Given the description of an element on the screen output the (x, y) to click on. 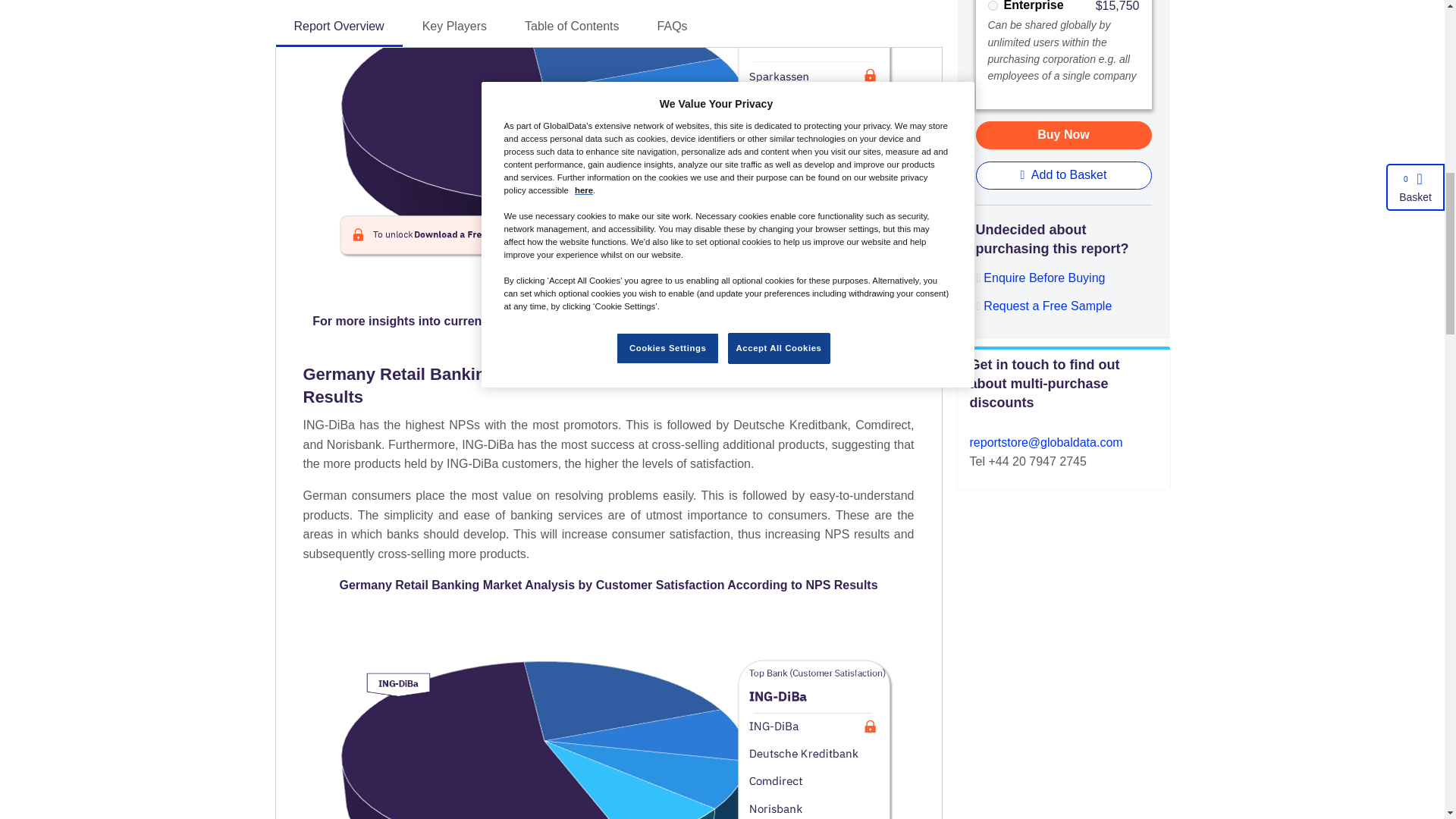
3079387 (992, 5)
